Given the description of an element on the screen output the (x, y) to click on. 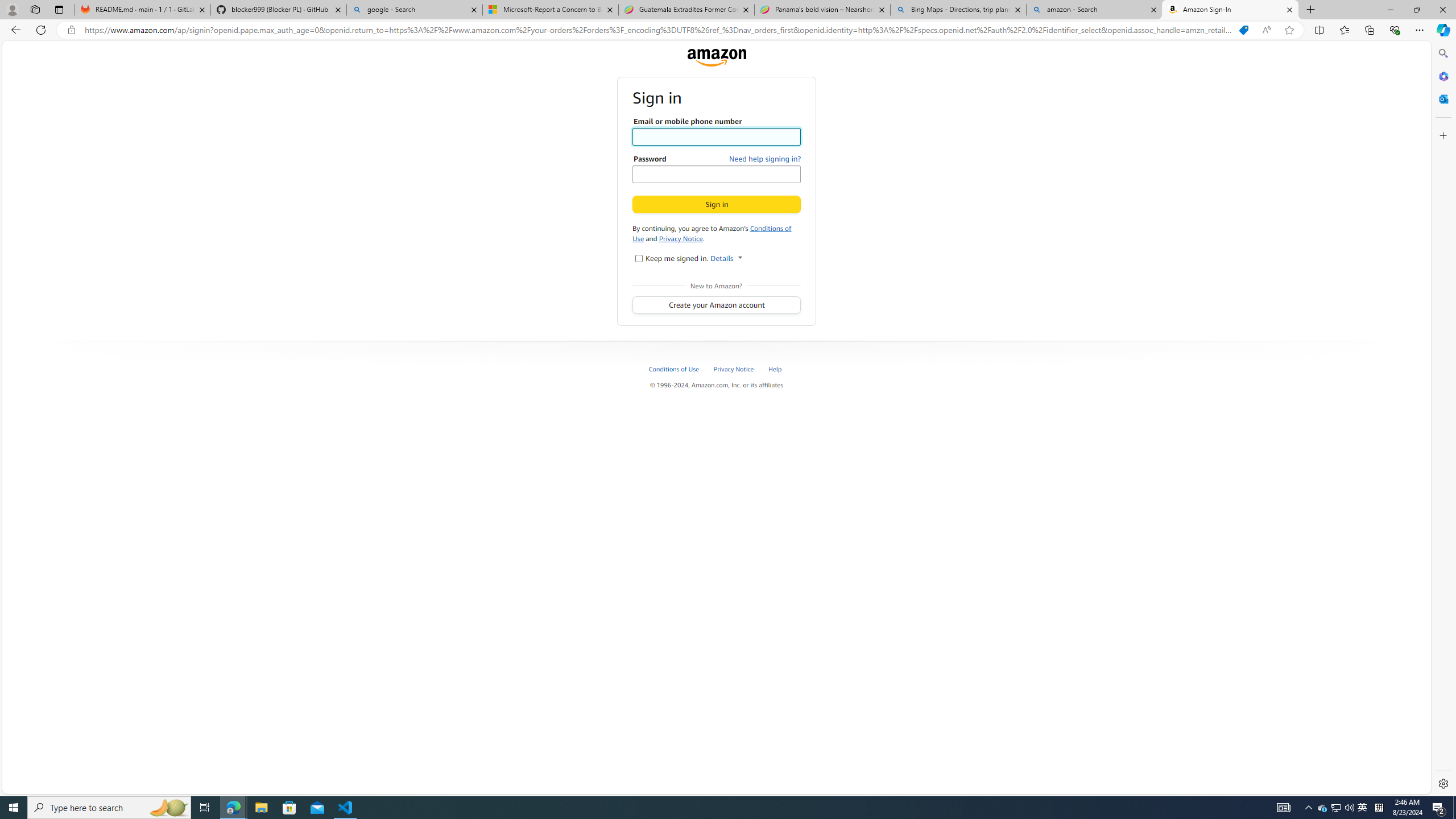
Conditions of Use  (679, 368)
Privacy Notice  (734, 368)
Keep me signed in. Details (638, 257)
Amazon Sign-In (1230, 9)
Conditions of Use (711, 233)
